Given the description of an element on the screen output the (x, y) to click on. 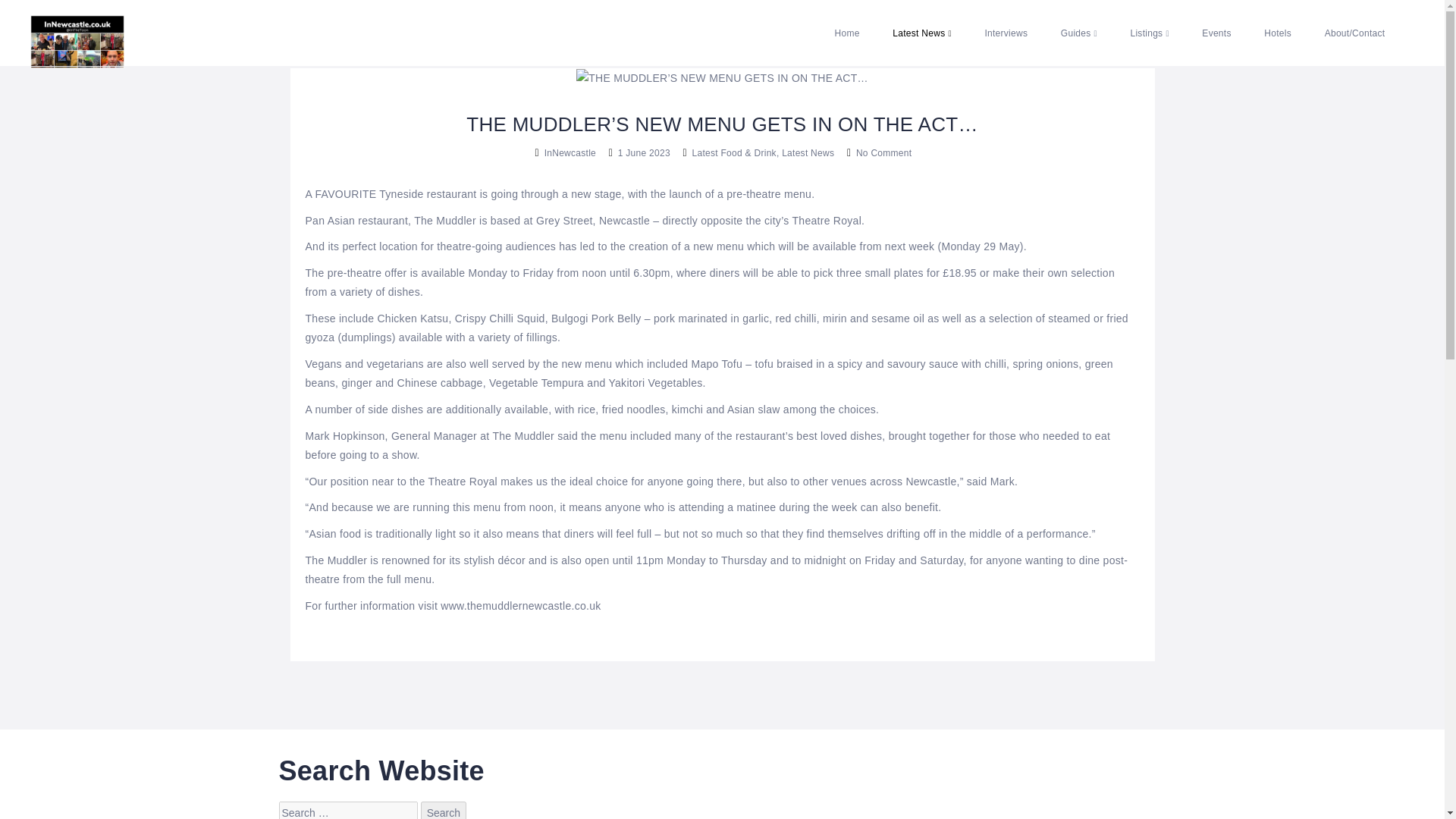
Listings (1149, 33)
Latest News (921, 33)
Interviews (1005, 33)
Guides (1078, 33)
